Given the description of an element on the screen output the (x, y) to click on. 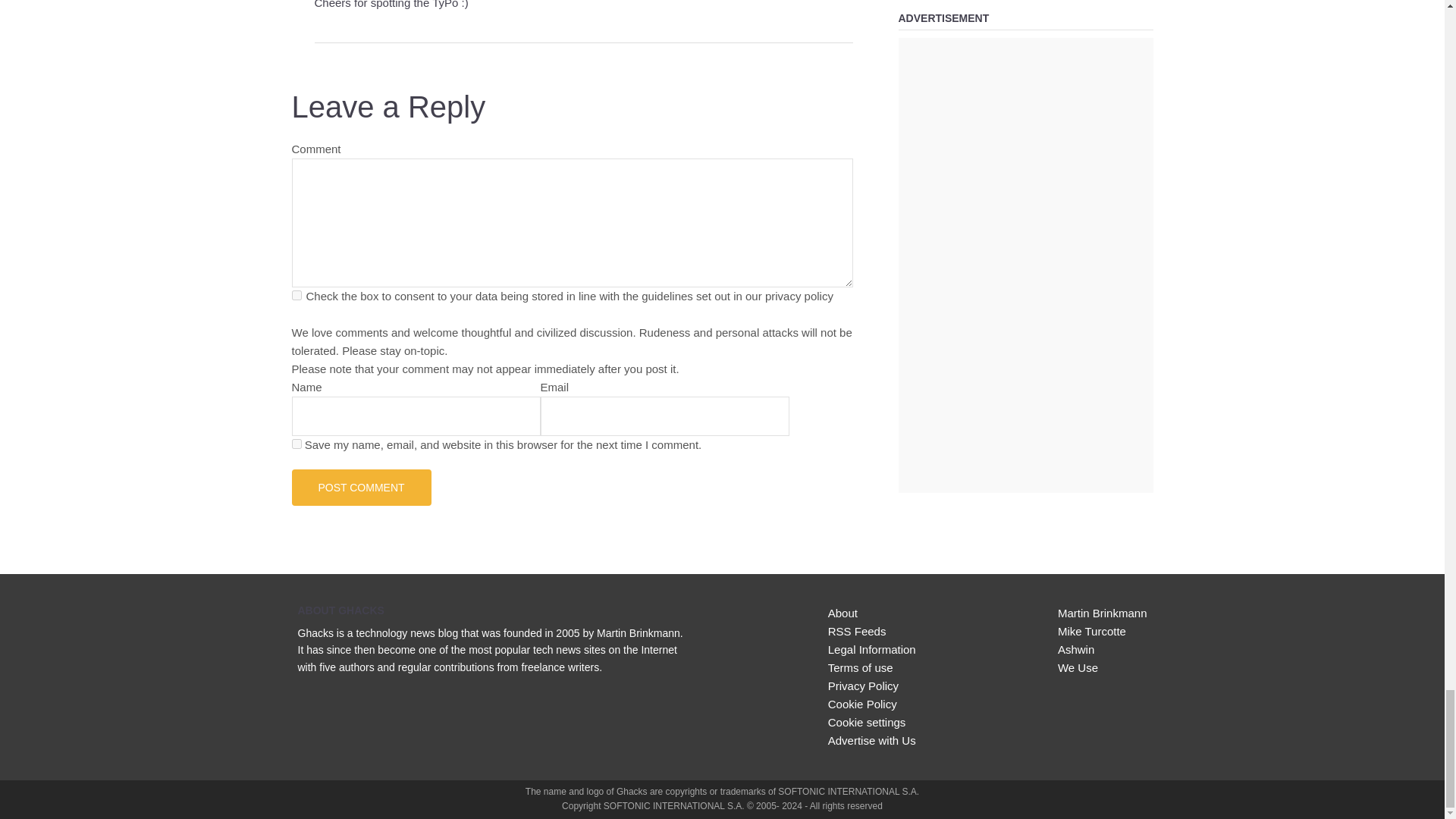
yes (296, 443)
privacy-key (296, 295)
Post Comment (360, 487)
